Given the description of an element on the screen output the (x, y) to click on. 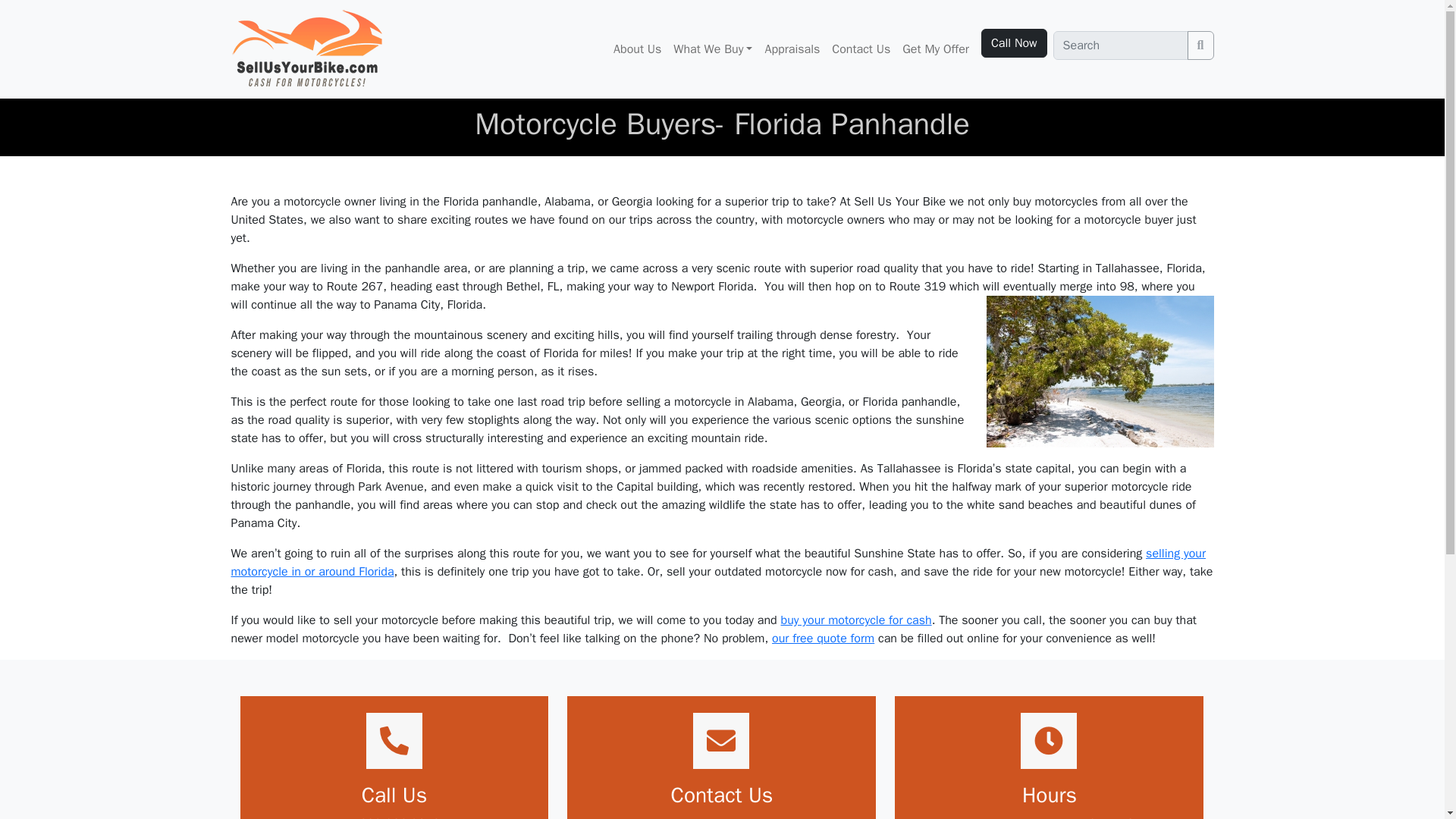
1.800.963.9216 (394, 817)
Free Online Quote Form (823, 638)
Get My Offer (935, 49)
Appraisals (791, 49)
Reach out now! (721, 817)
Contact Us (860, 49)
Search (1201, 45)
buy your motorcycle for cash (855, 620)
our free quote form (823, 638)
What We Buy (712, 49)
